Given the description of an element on the screen output the (x, y) to click on. 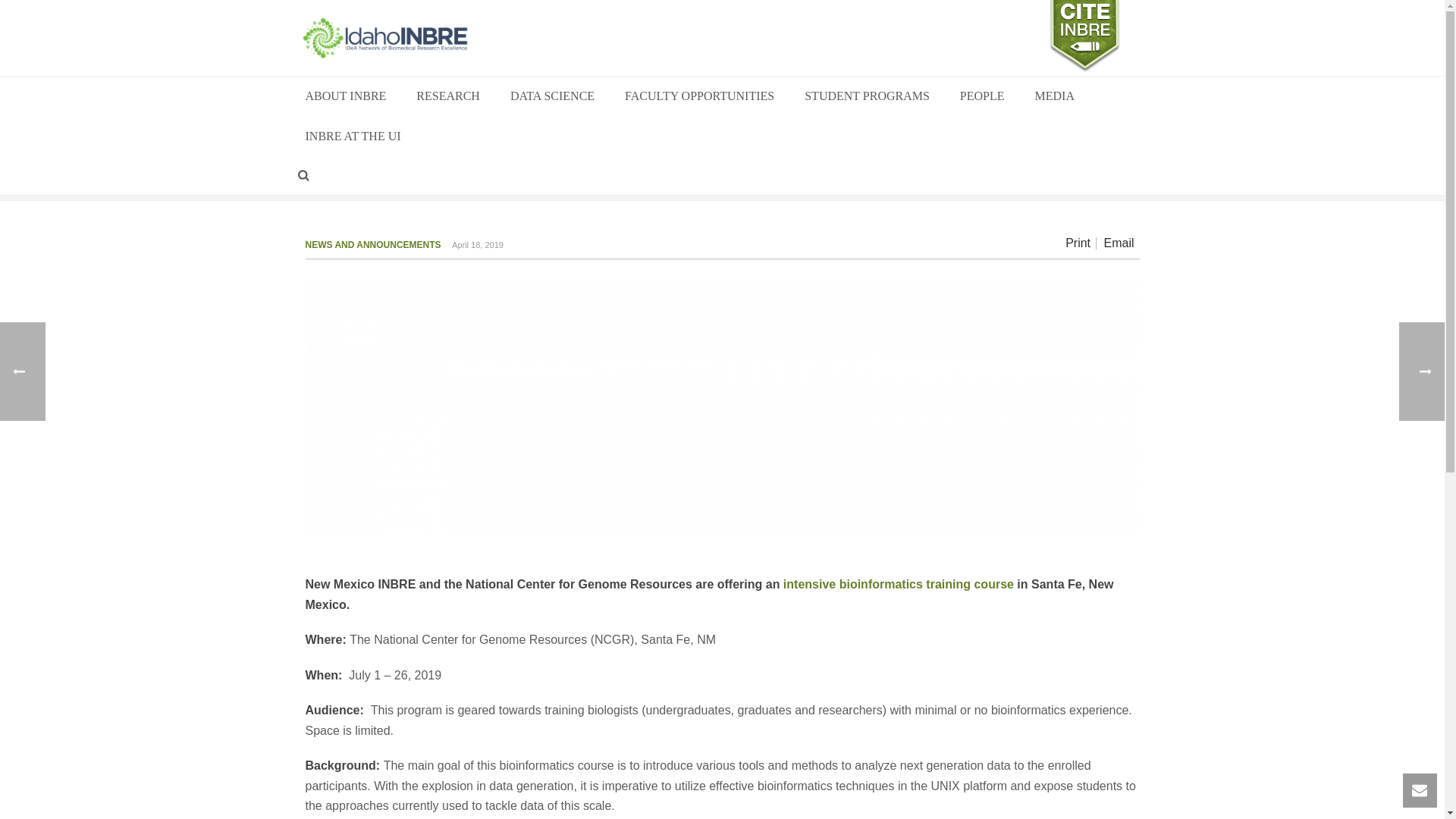
ABOUT INBRE (345, 96)
ABOUT INBRE (345, 96)
FACULTY OPPORTUNITIES (699, 96)
MEDIA (1054, 96)
RESEARCH (448, 96)
RESEARCH (448, 96)
INBRE AT THE UI (351, 137)
DATA SCIENCE (552, 96)
STUDENT PROGRAMS (866, 96)
FACULTY OPPORTUNITIES (699, 96)
Idaho INBRE (384, 38)
STUDENT PROGRAMS (866, 96)
PEOPLE (982, 96)
IDeA Network of Biomedical Research Excellence (384, 37)
